Given the description of an element on the screen output the (x, y) to click on. 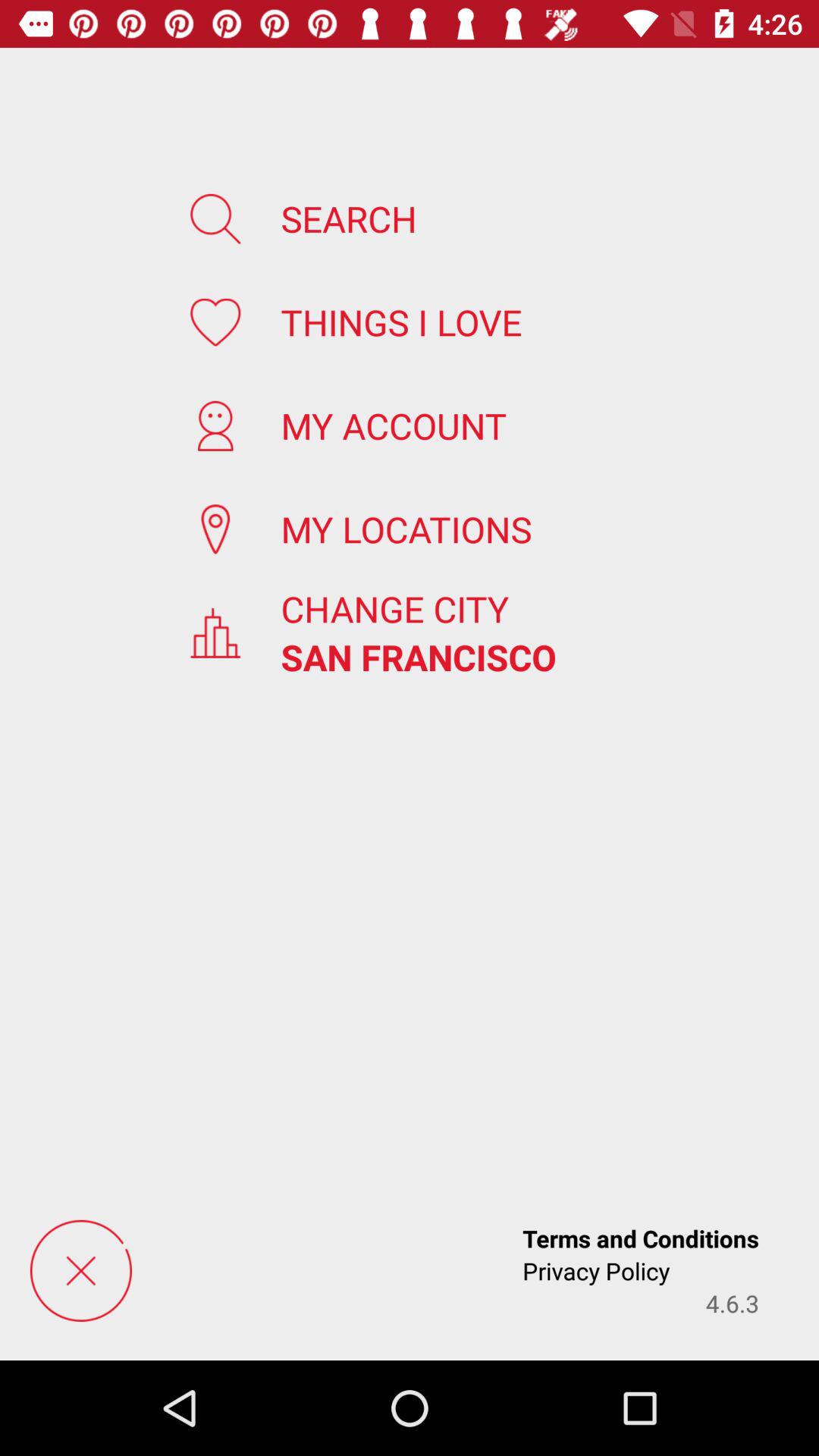
jump until the my account icon (393, 425)
